Given the description of an element on the screen output the (x, y) to click on. 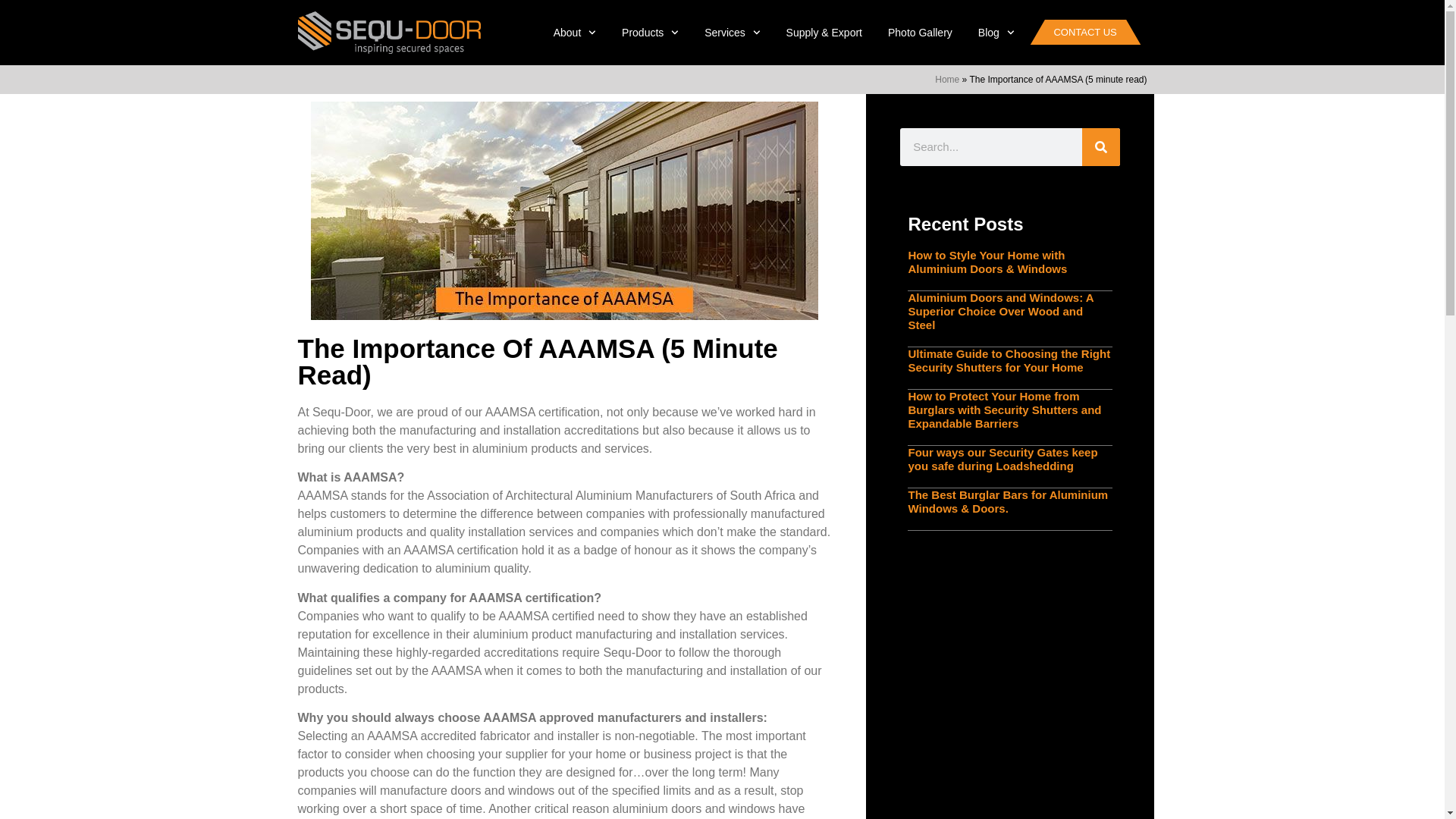
Products (649, 32)
Photo Gallery (920, 32)
Services (732, 32)
Blog (996, 32)
About (574, 32)
